Given the description of an element on the screen output the (x, y) to click on. 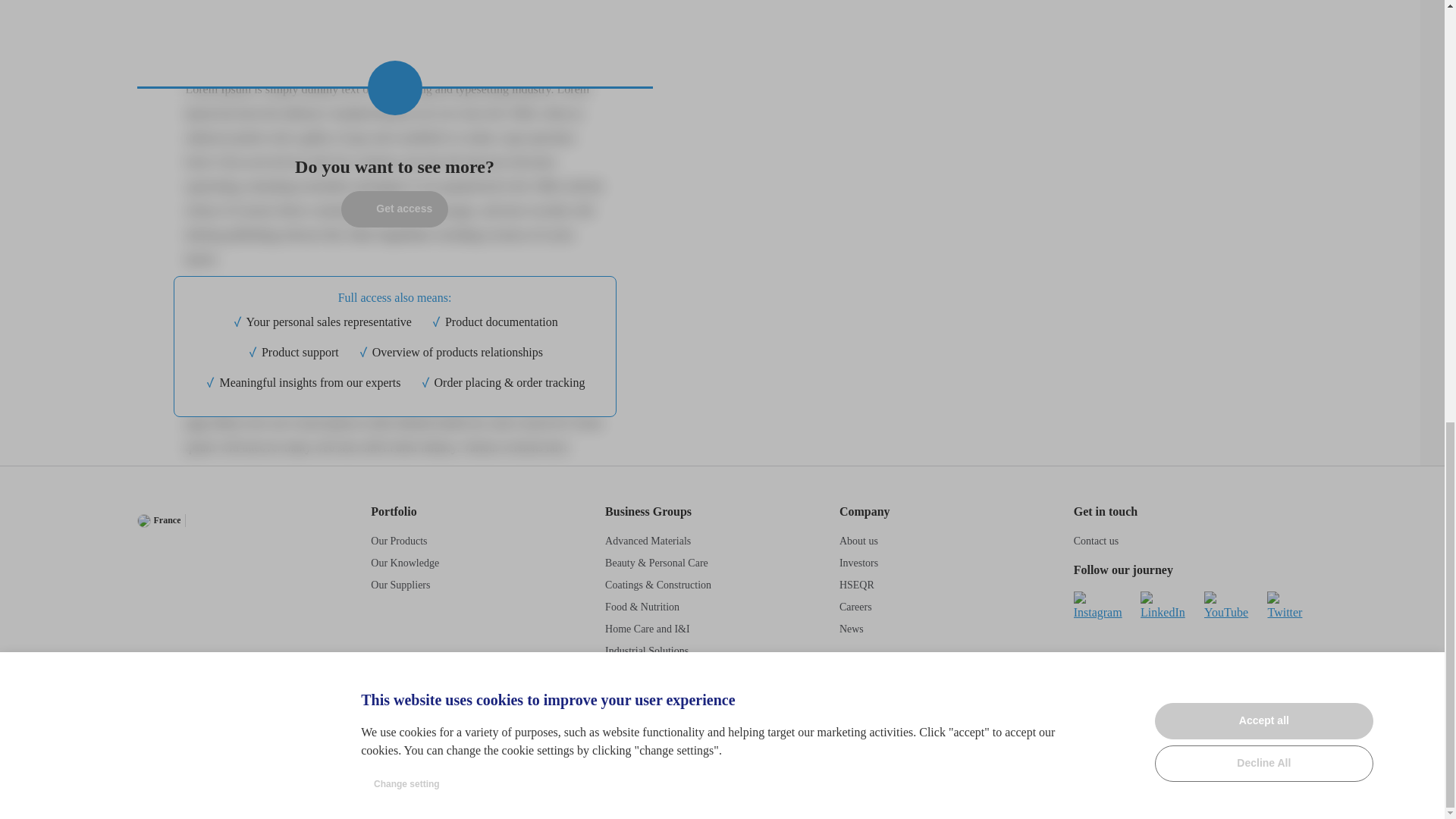
France (158, 519)
Open Dropdown (225, 520)
Our Suppliers (400, 584)
Advanced Materials (647, 541)
Our Knowledge (405, 562)
Get access (394, 208)
Our Products (398, 541)
